Given the description of an element on the screen output the (x, y) to click on. 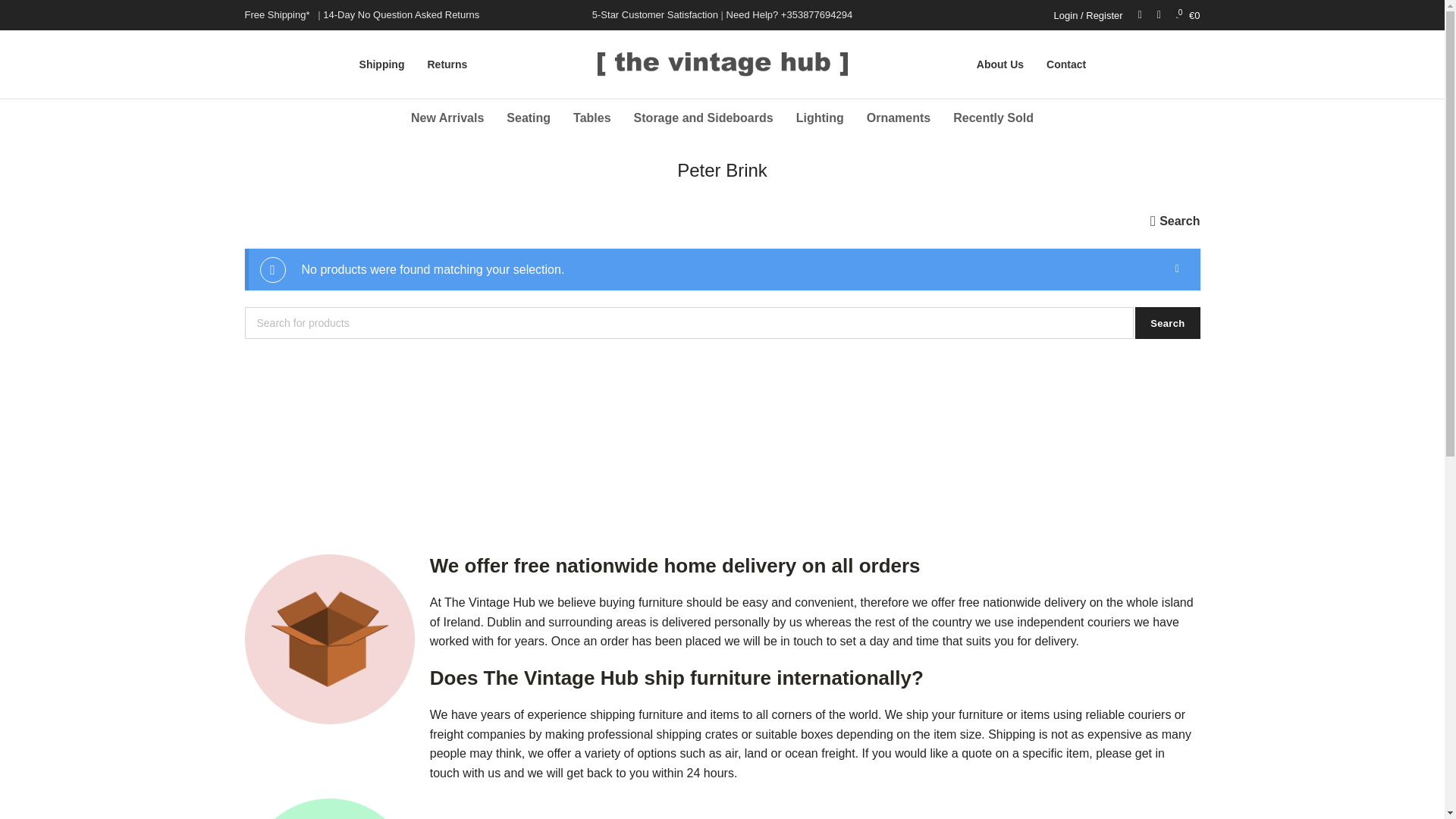
Money Back (328, 808)
Shipping (381, 64)
Contact (1066, 64)
Ornaments (899, 118)
Seating (528, 118)
5-Star Customer Satisfaction (654, 14)
Search (1167, 323)
Recently Sold (993, 118)
Returns (446, 64)
14-Day No Question Asked Returns (401, 14)
New Arrivals (446, 118)
About Us (1000, 64)
Storage and Sideboards (703, 118)
Tables (592, 118)
Lighting (820, 118)
